Given the description of an element on the screen output the (x, y) to click on. 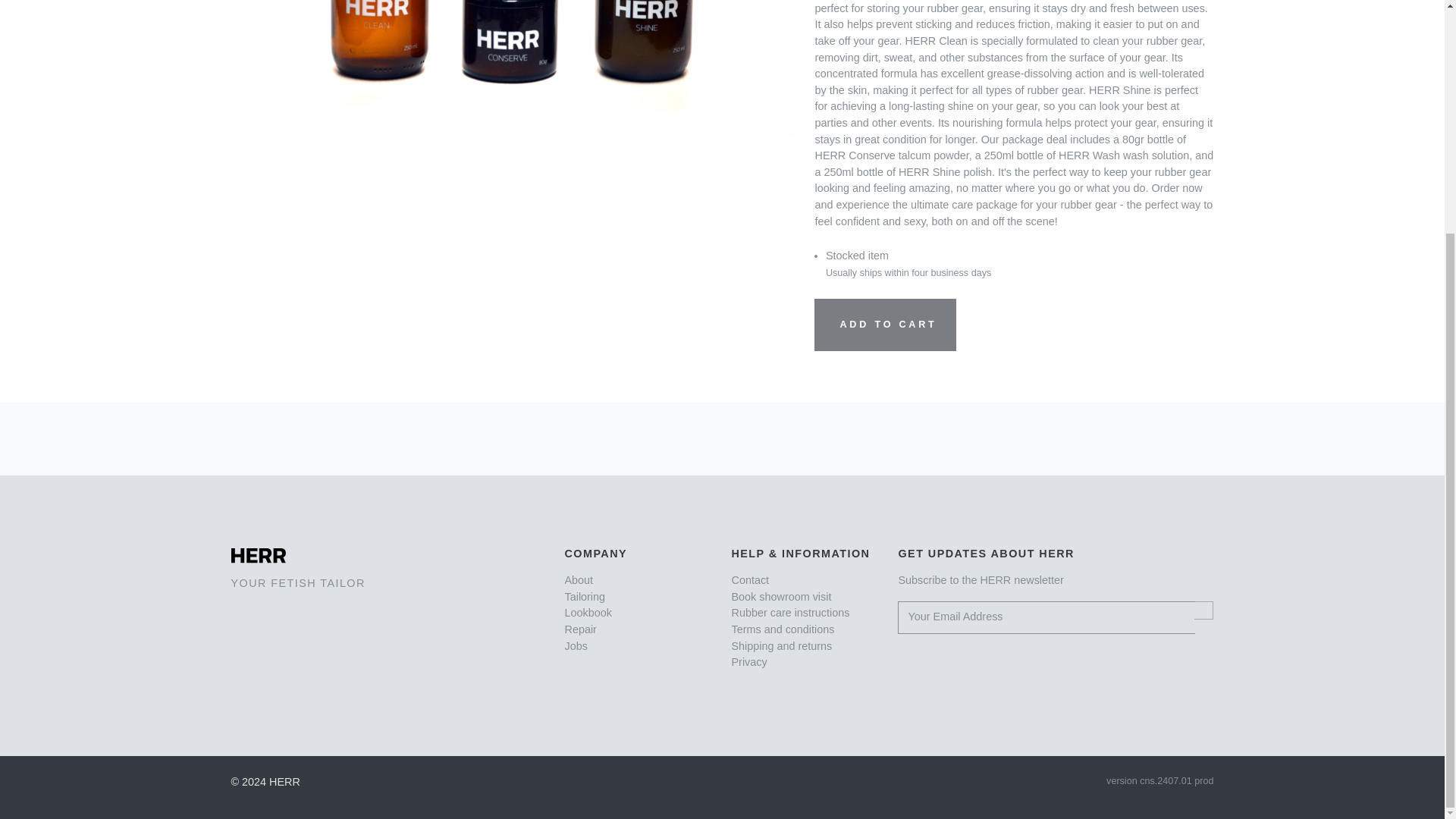
Terms and conditions (782, 629)
Contact (749, 580)
Lookbook (587, 612)
Privacy (748, 662)
Shipping and returns (780, 645)
Tailoring (584, 596)
Subscribe (1202, 610)
ADD TO CART (884, 324)
Rubber care instructions (789, 612)
Jobs (575, 645)
Repair (579, 629)
About (578, 580)
Book showroom visit (780, 596)
